Given the description of an element on the screen output the (x, y) to click on. 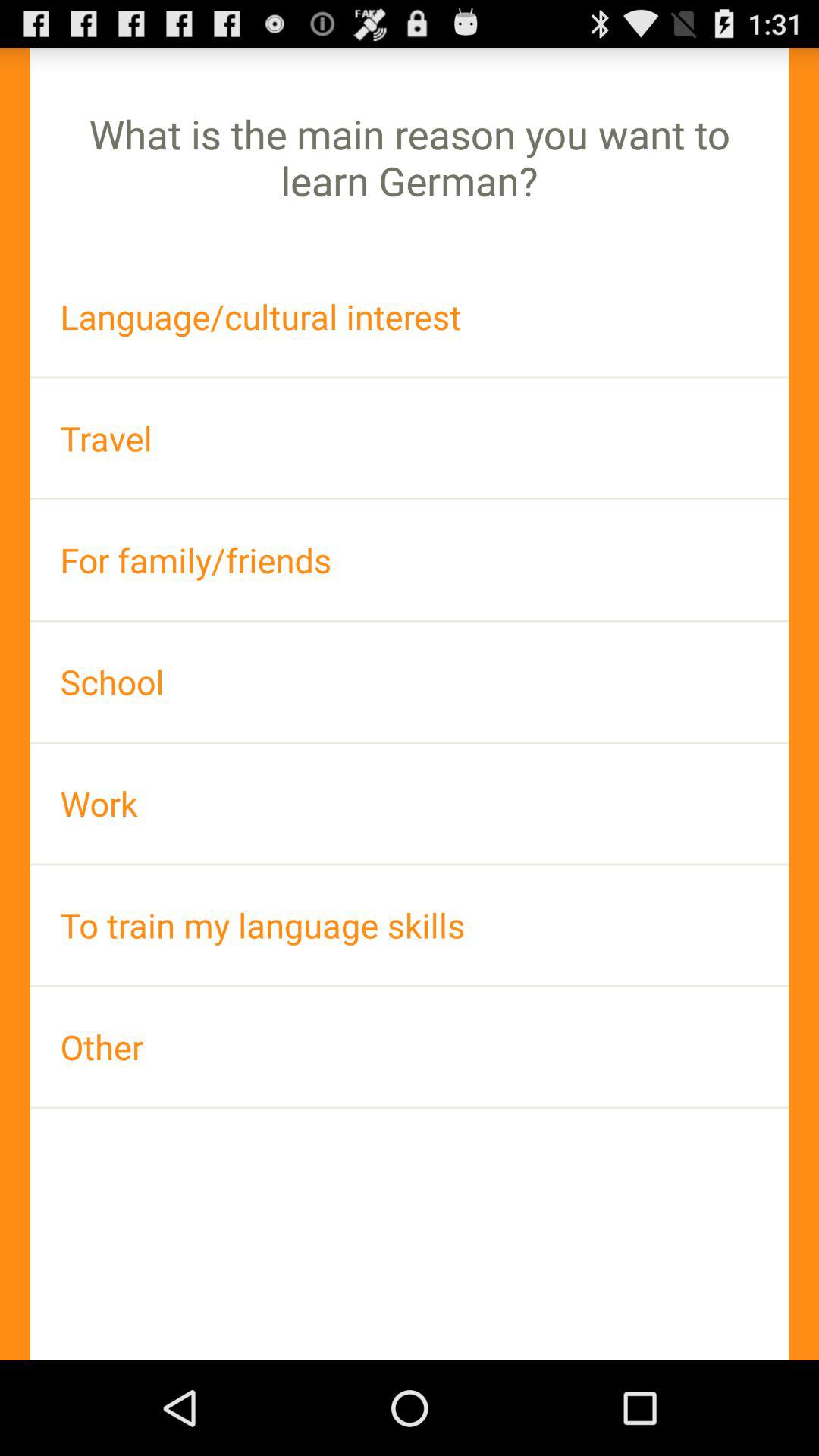
turn on for family/friends item (409, 559)
